Given the description of an element on the screen output the (x, y) to click on. 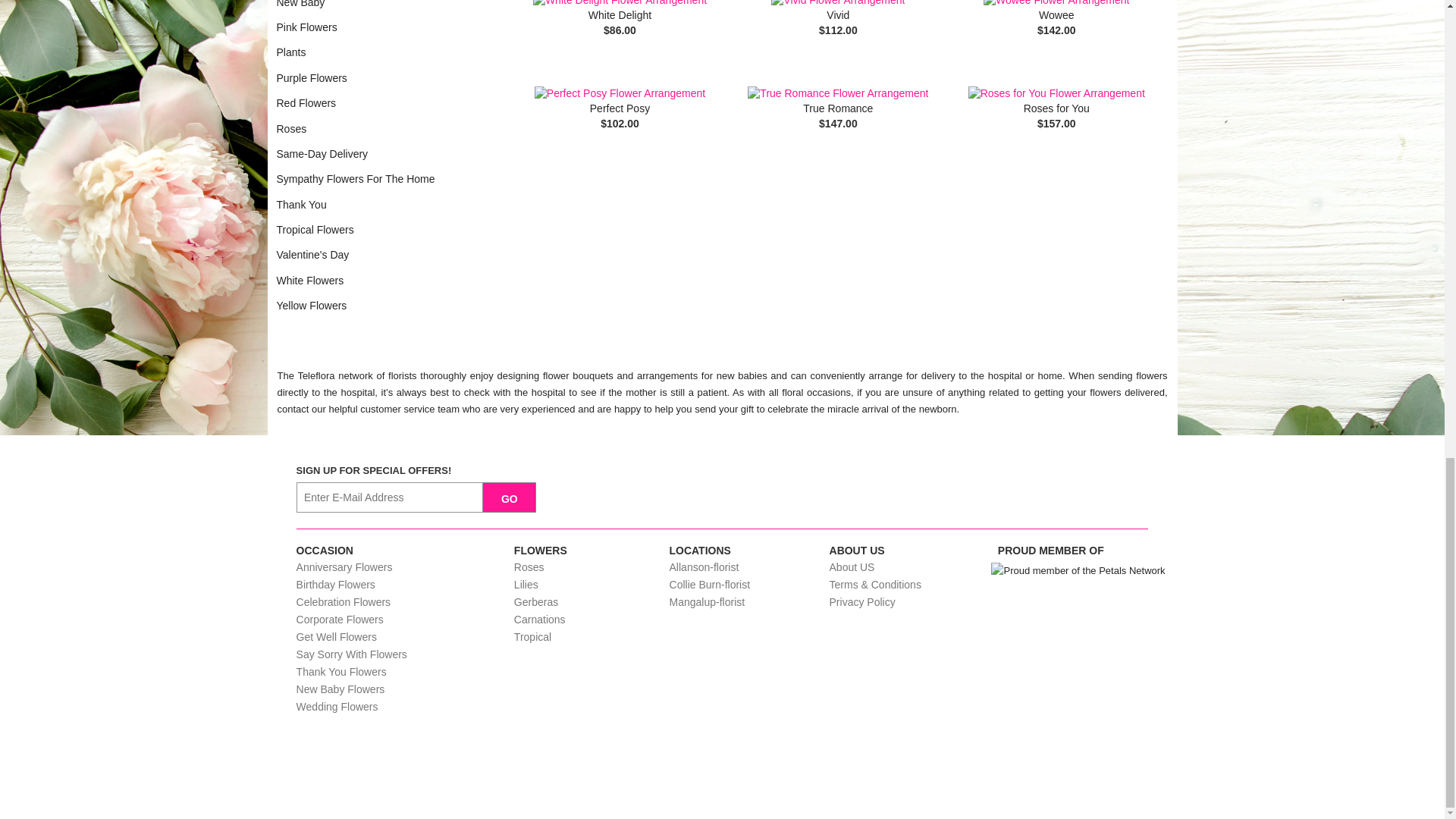
Go (509, 497)
go (509, 497)
Email Sign up (390, 497)
